Given the description of an element on the screen output the (x, y) to click on. 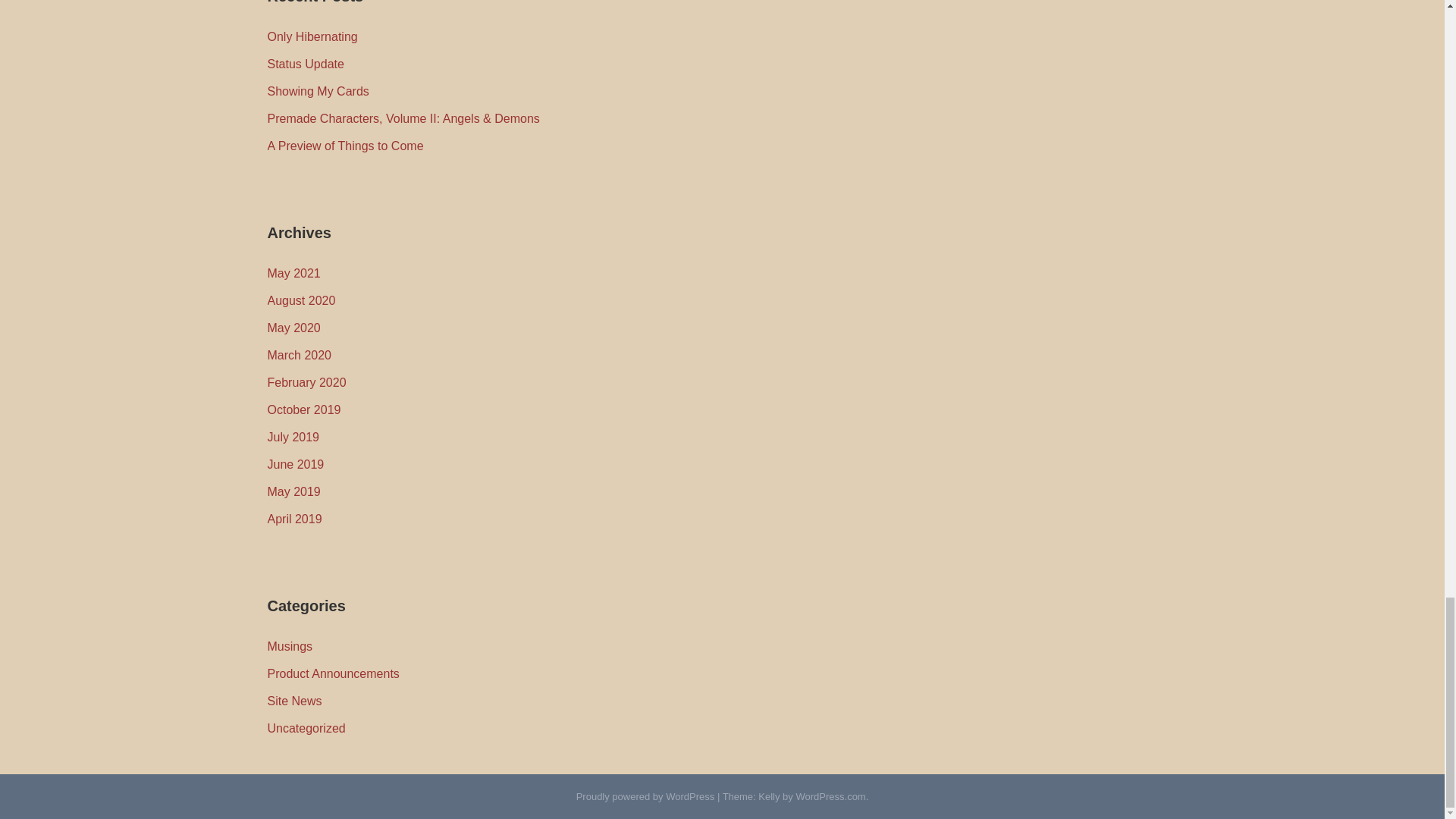
February 2020 (306, 382)
July 2019 (292, 436)
WordPress.com (829, 796)
October 2019 (303, 409)
May 2021 (293, 273)
Site News (293, 700)
Proudly powered by WordPress (645, 796)
Status Update (304, 63)
Showing My Cards (317, 91)
A Preview of Things to Come (344, 145)
